Given the description of an element on the screen output the (x, y) to click on. 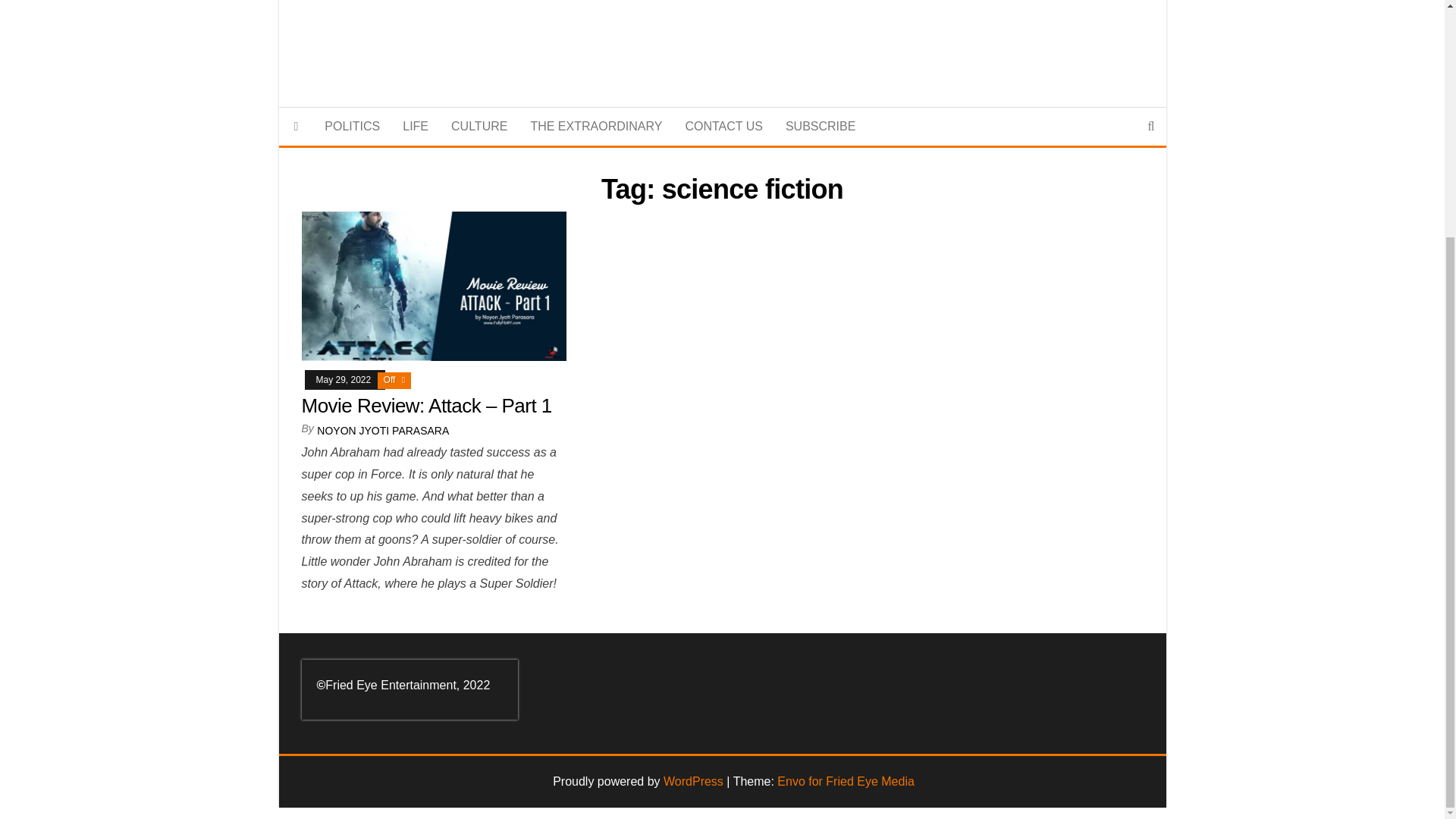
CULTURE (478, 126)
THE EXTRAORDINARY (595, 126)
LIFE (415, 126)
POLITICS (352, 126)
LIFE (415, 126)
Envo for Fried Eye Media (845, 780)
NOYON JYOTI PARASARA (382, 430)
CONTACT US (723, 126)
SUBSCRIBE (820, 126)
CONTACT US (723, 126)
